Given the description of an element on the screen output the (x, y) to click on. 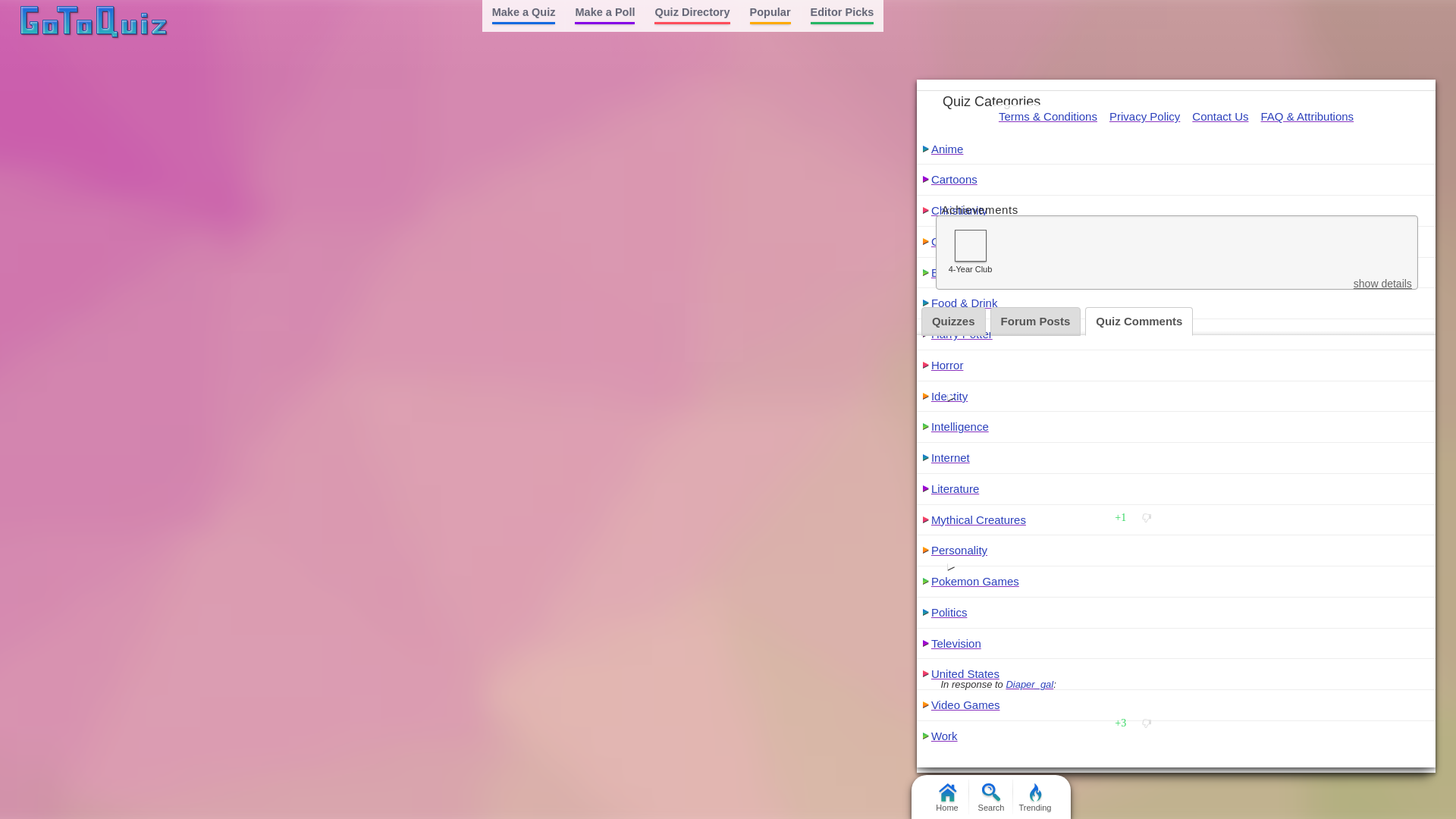
Anime (947, 148)
Video Games (965, 704)
Editor Picks (841, 15)
Privacy Policy (1144, 115)
Quizzes (953, 321)
Internet (950, 457)
Home (946, 796)
Forum Posts (1035, 321)
Mythical Creatures (978, 519)
Comedy (952, 241)
